Given the description of an element on the screen output the (x, y) to click on. 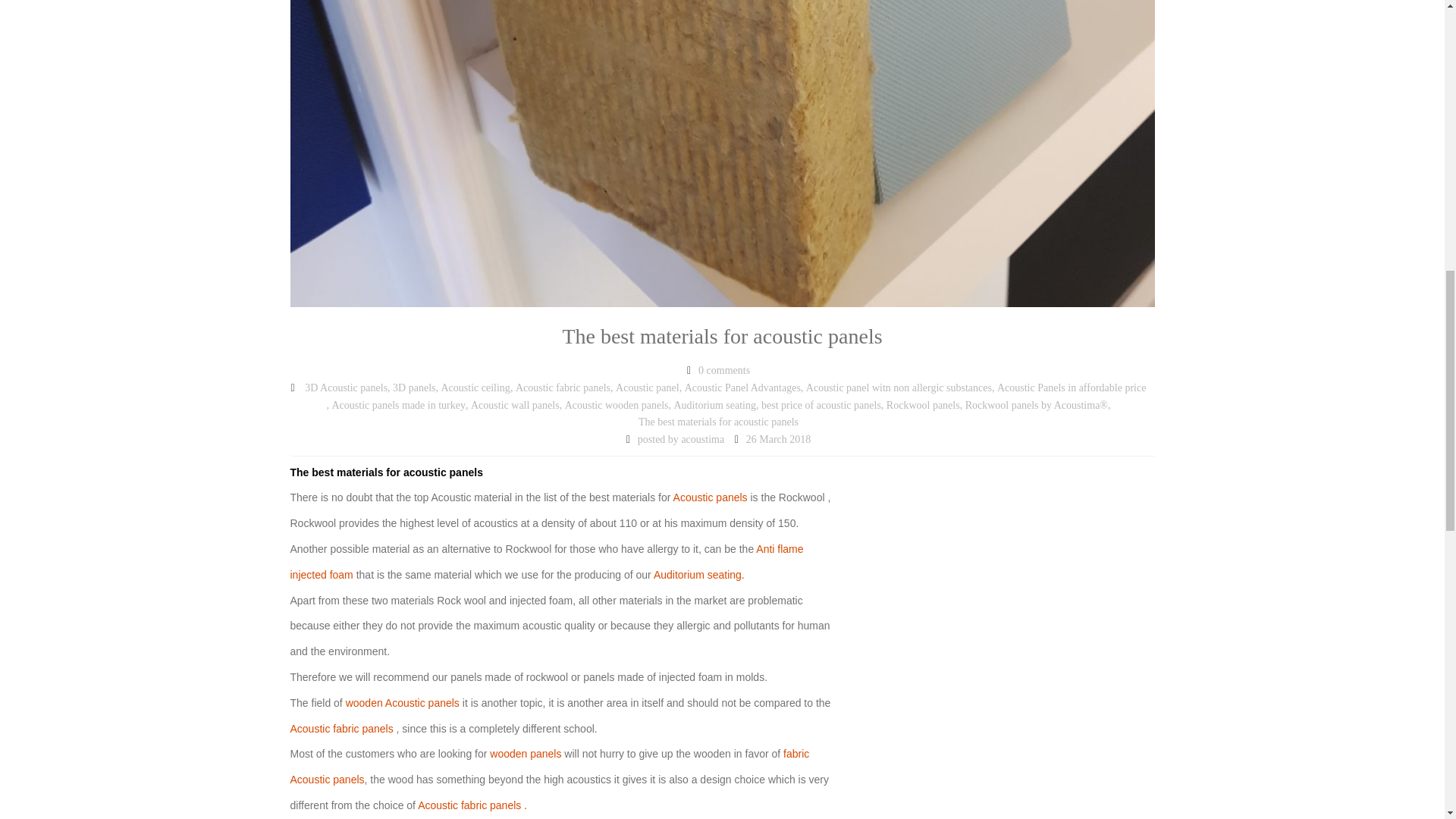
Acoustic panel witn non allergic substances (898, 388)
Acoustic ceiling (476, 388)
Acoustic fabric panels (562, 388)
Acoustic Panels in affordable price (1071, 388)
3D panels (414, 388)
Acoustic panel (647, 388)
3D Acoustic panels (345, 388)
Acoustic Panel Advantages (742, 388)
0 comments (723, 371)
